Given the description of an element on the screen output the (x, y) to click on. 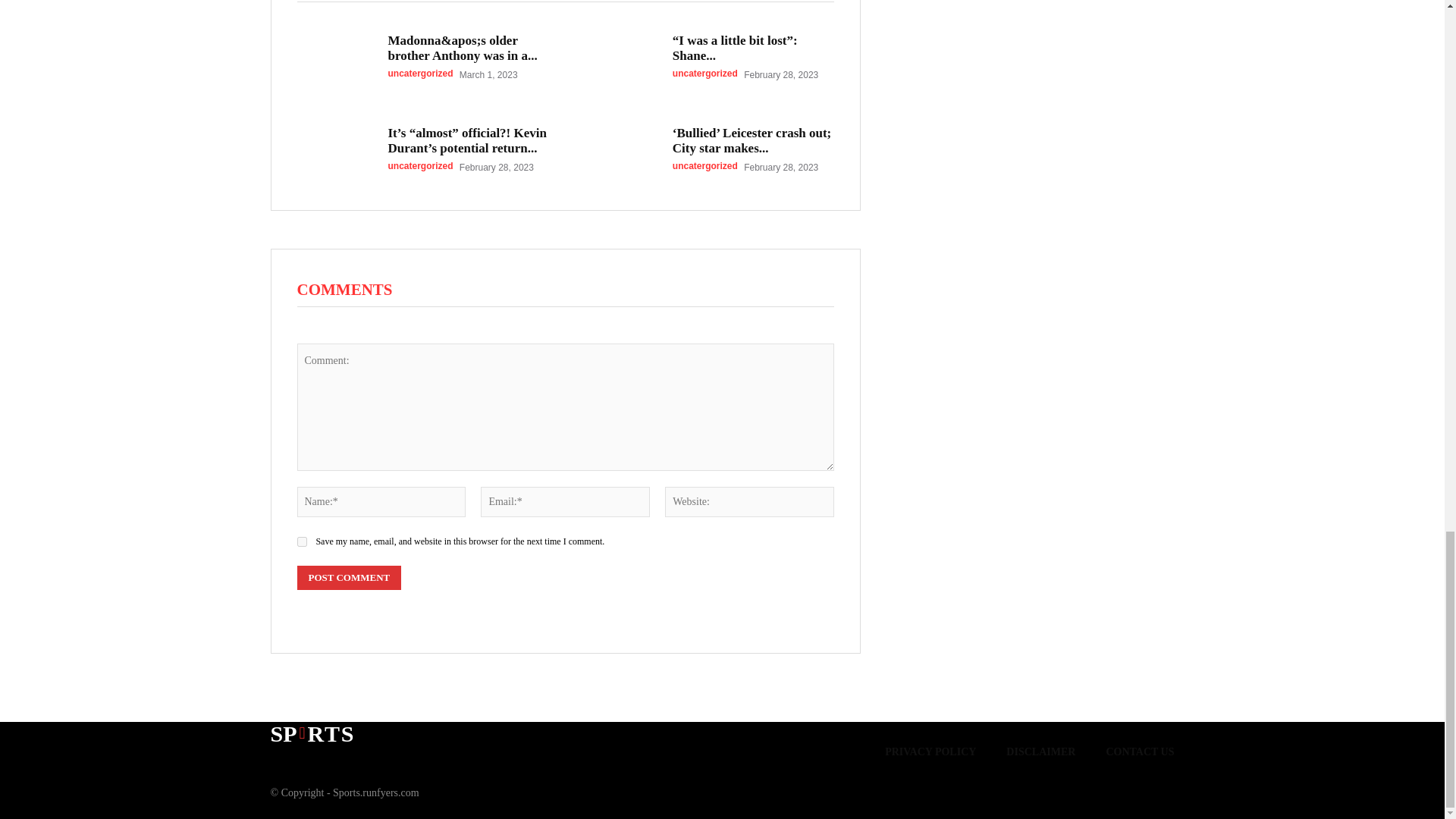
Post Comment (349, 577)
yes (302, 542)
